Given the description of an element on the screen output the (x, y) to click on. 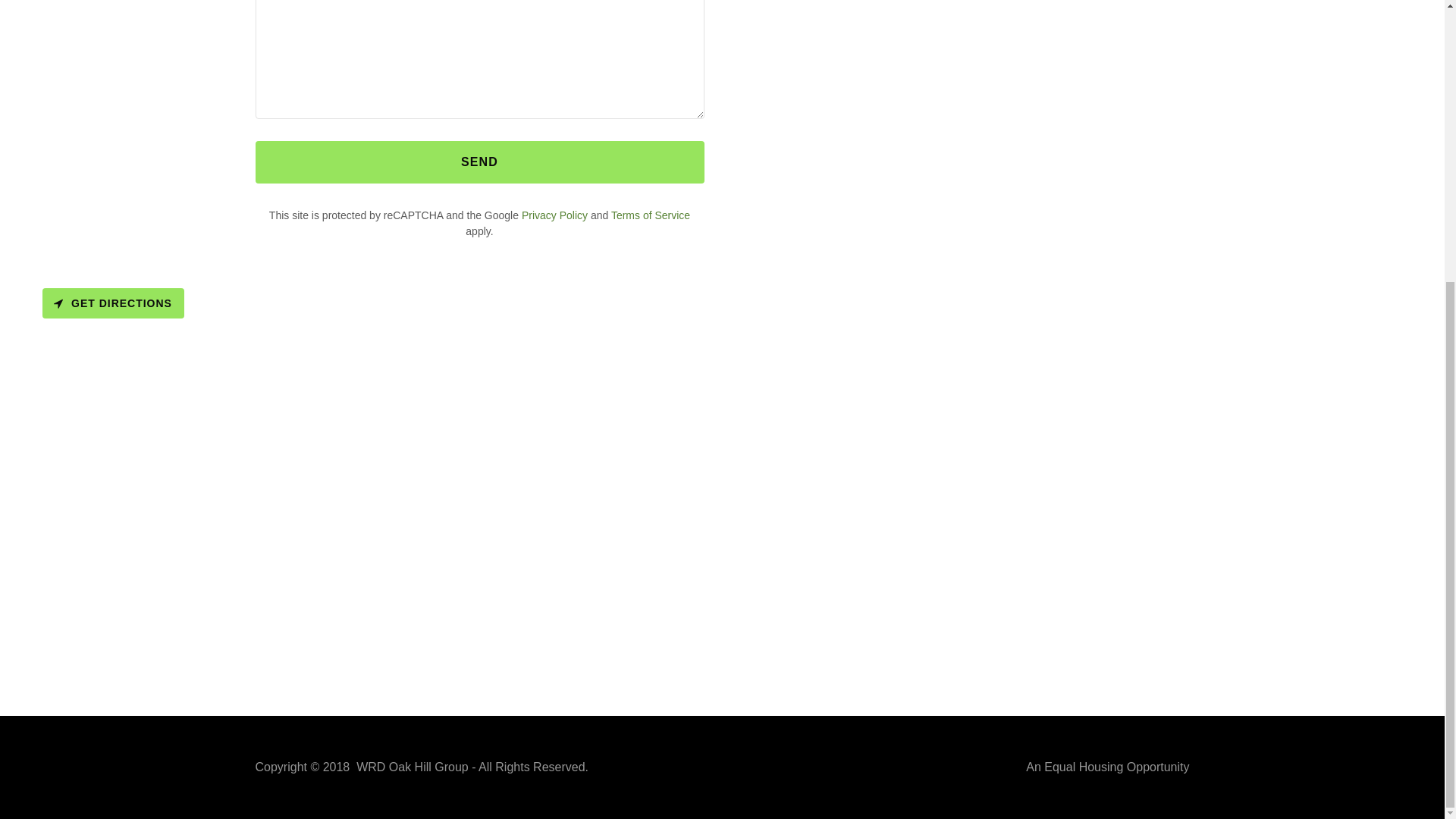
Privacy Policy (554, 215)
SEND (478, 161)
Terms of Service (650, 215)
GET DIRECTIONS (113, 303)
